Given the description of an element on the screen output the (x, y) to click on. 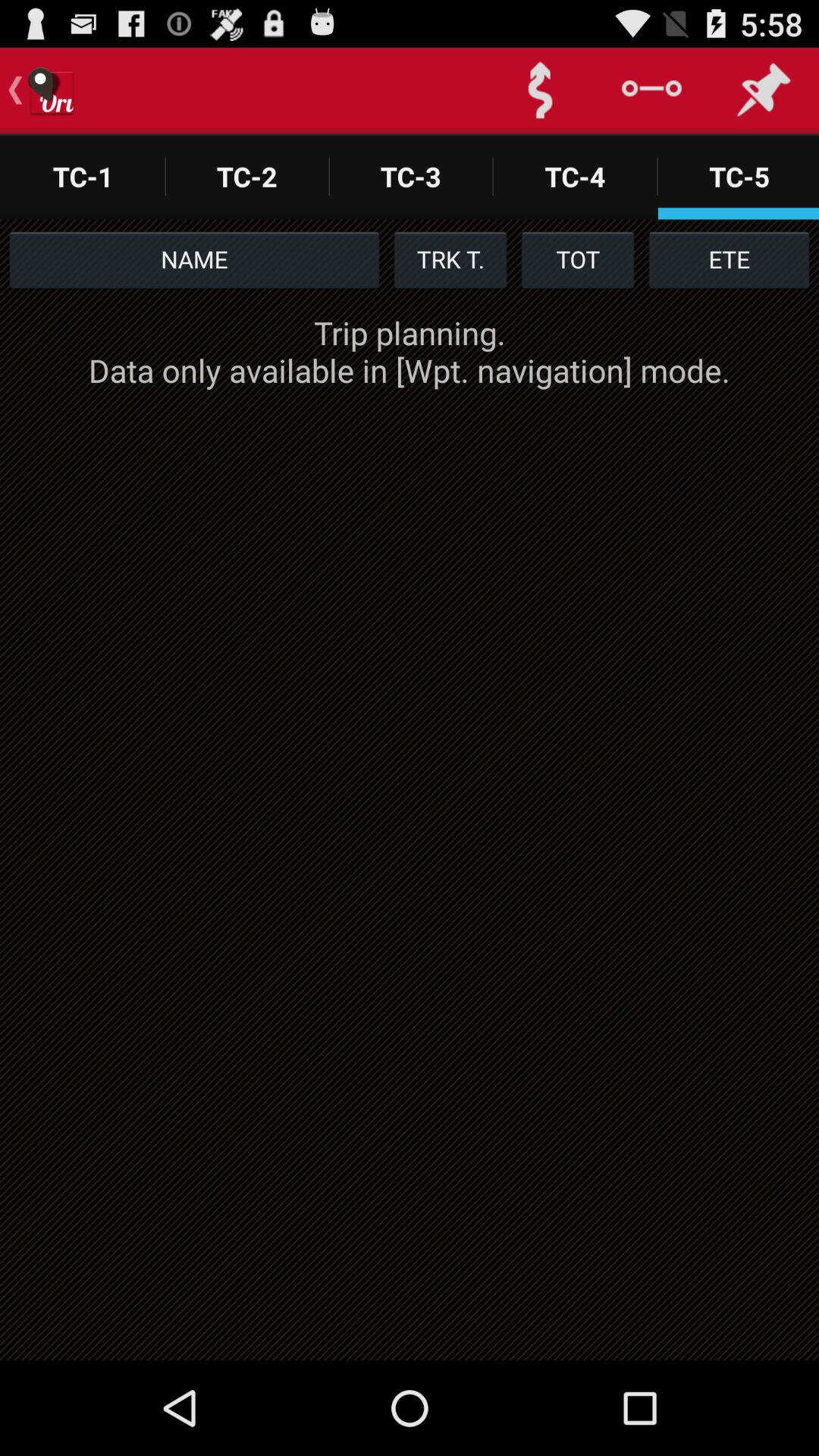
click name button (194, 259)
